Given the description of an element on the screen output the (x, y) to click on. 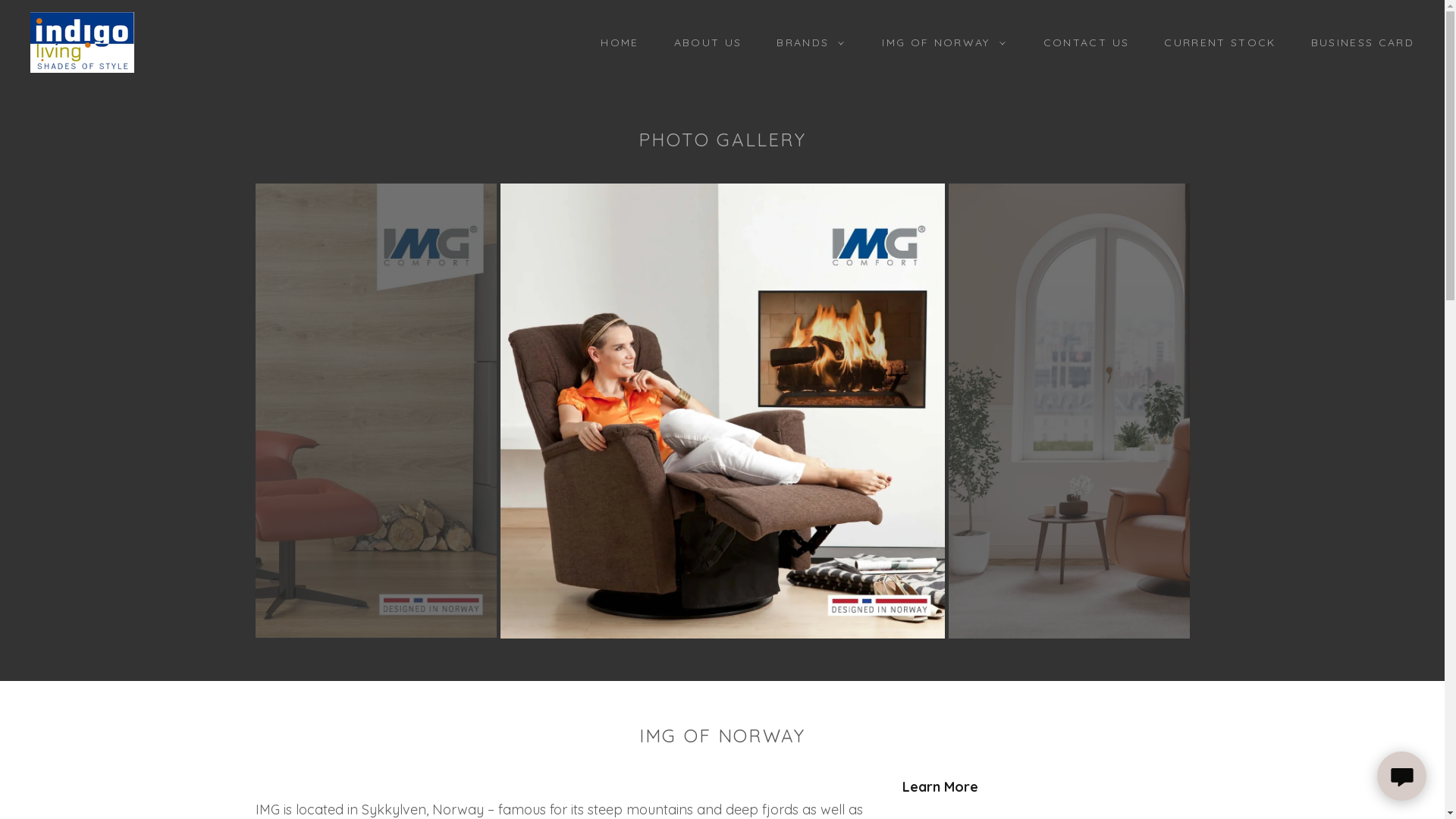
HOME Element type: text (614, 42)
ABOUT US Element type: text (702, 42)
CONTACT US Element type: text (1080, 42)
IMG OF NORWAY Element type: text (939, 42)
BRANDS Element type: text (806, 42)
Indigo Living Element type: hover (82, 41)
BUSINESS CARD Element type: text (1356, 42)
CURRENT STOCK Element type: text (1214, 42)
